Given the description of an element on the screen output the (x, y) to click on. 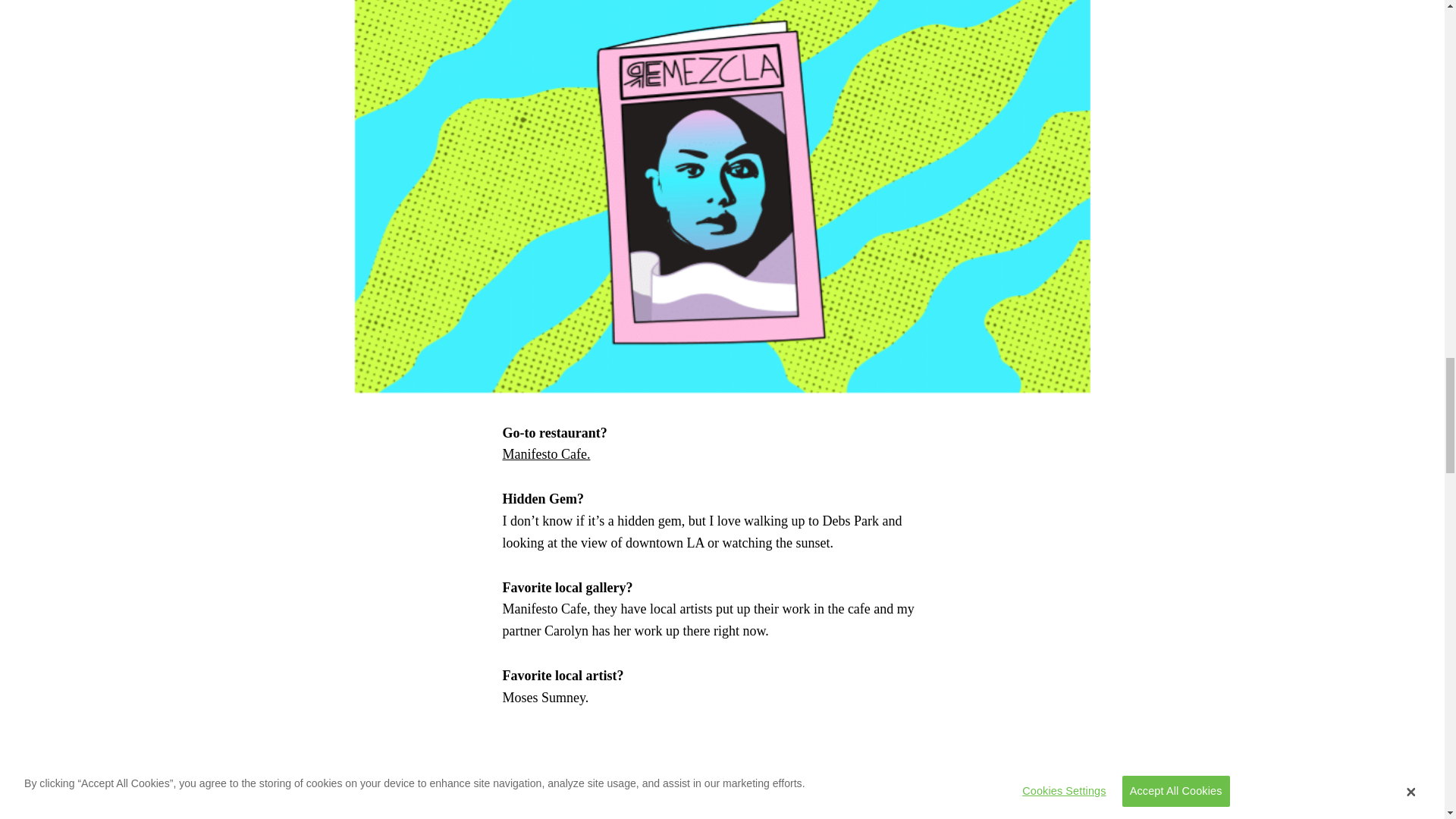
Manifesto Cafe. (545, 453)
Moses Sumney Replaceable (722, 775)
